Given the description of an element on the screen output the (x, y) to click on. 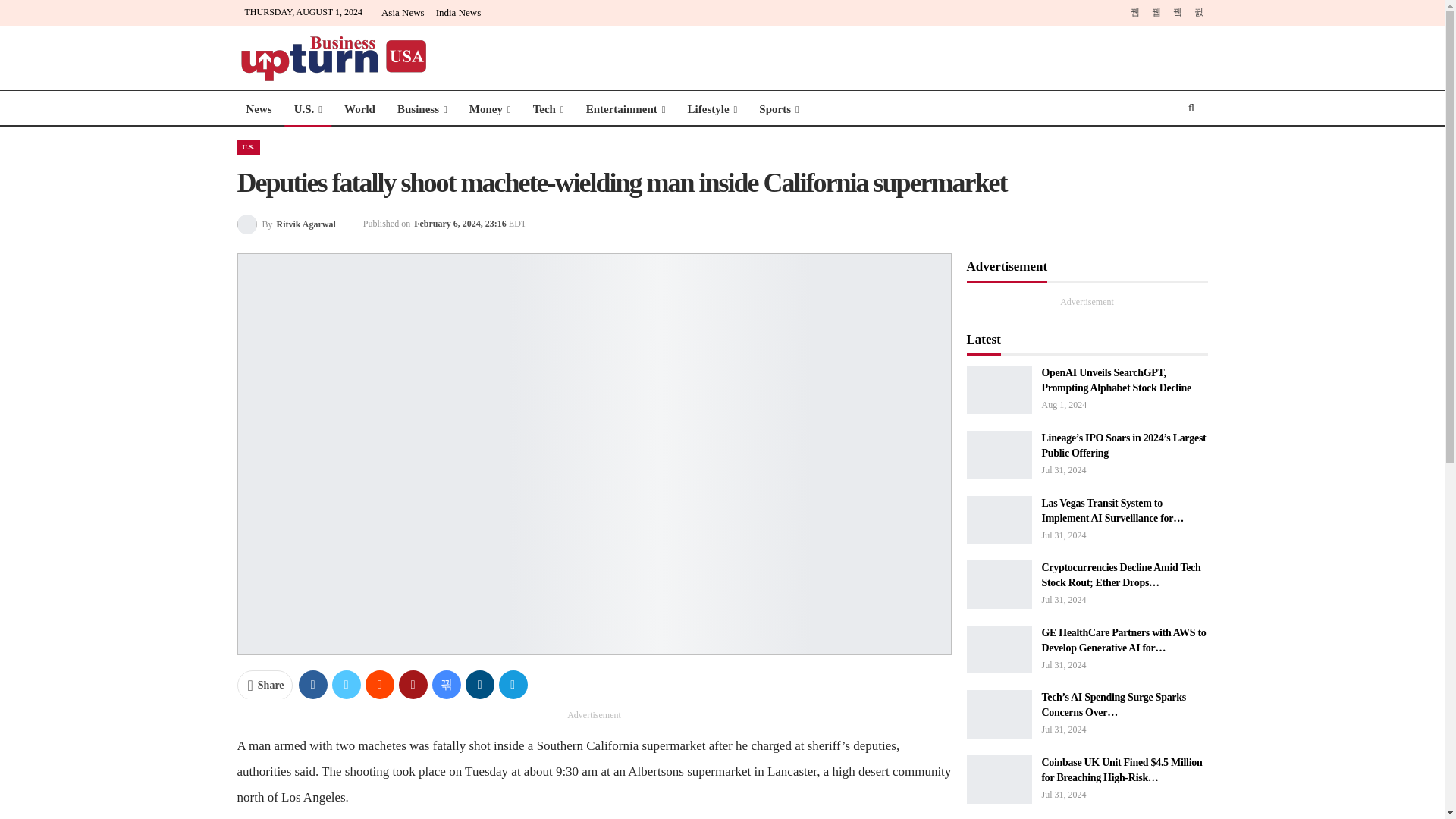
News (258, 108)
Entertainment (625, 108)
Business (422, 108)
OpenAI Unveils SearchGPT, Prompting Alphabet Stock Decline (998, 389)
Browse Author Articles (284, 223)
India News (458, 12)
World (359, 108)
Tech (548, 108)
Lifestyle (712, 108)
U.S. (308, 108)
Money (489, 108)
Asia News (403, 12)
